Given the description of an element on the screen output the (x, y) to click on. 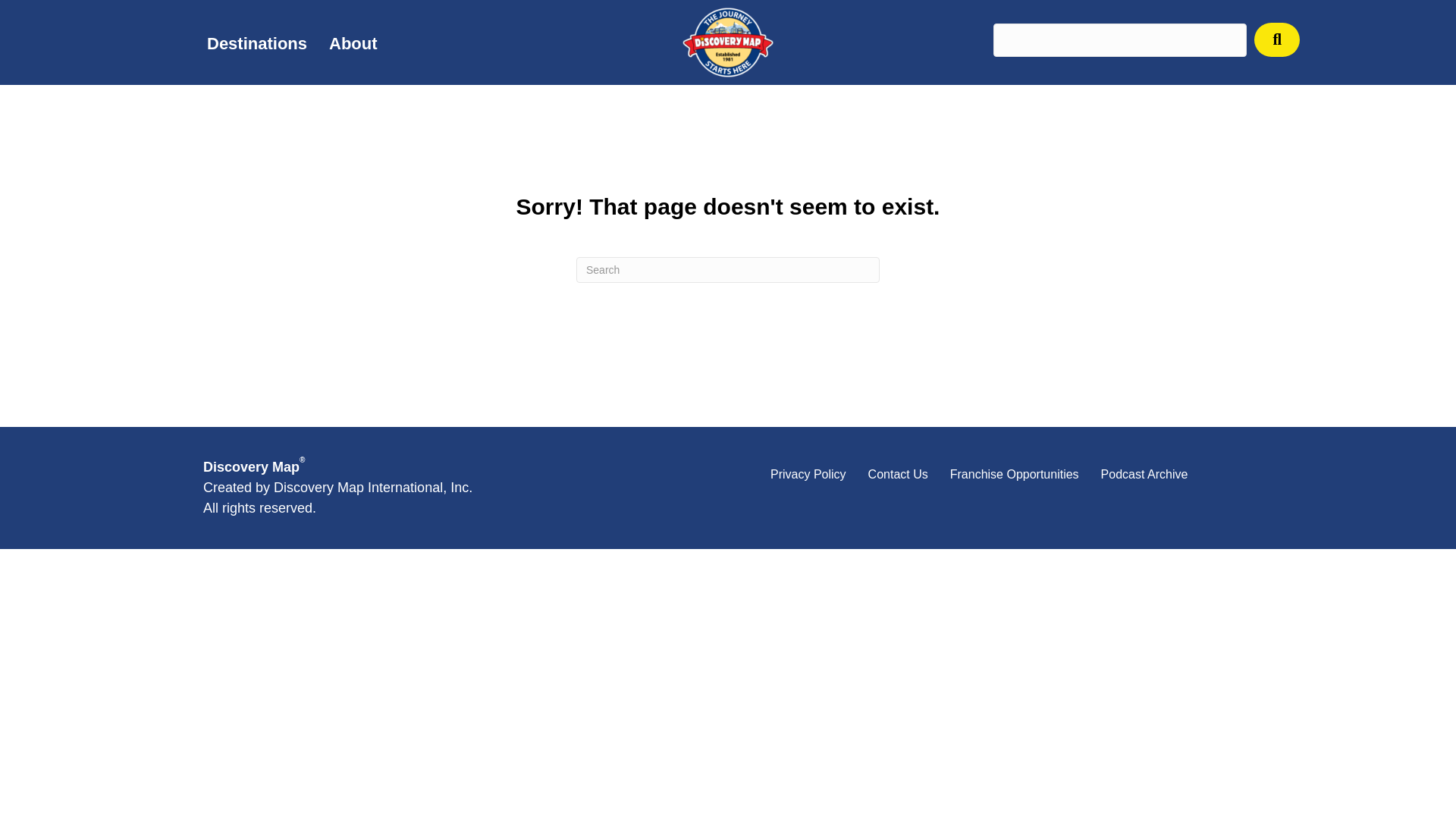
Type and press Enter to search. (727, 269)
Privacy Policy (808, 474)
DMI-Badge-withSTROKE (727, 43)
Destinations (256, 44)
Podcast Archive (1144, 474)
Franchise Opportunities (1014, 474)
Contact Us (898, 474)
About (353, 44)
